Given the description of an element on the screen output the (x, y) to click on. 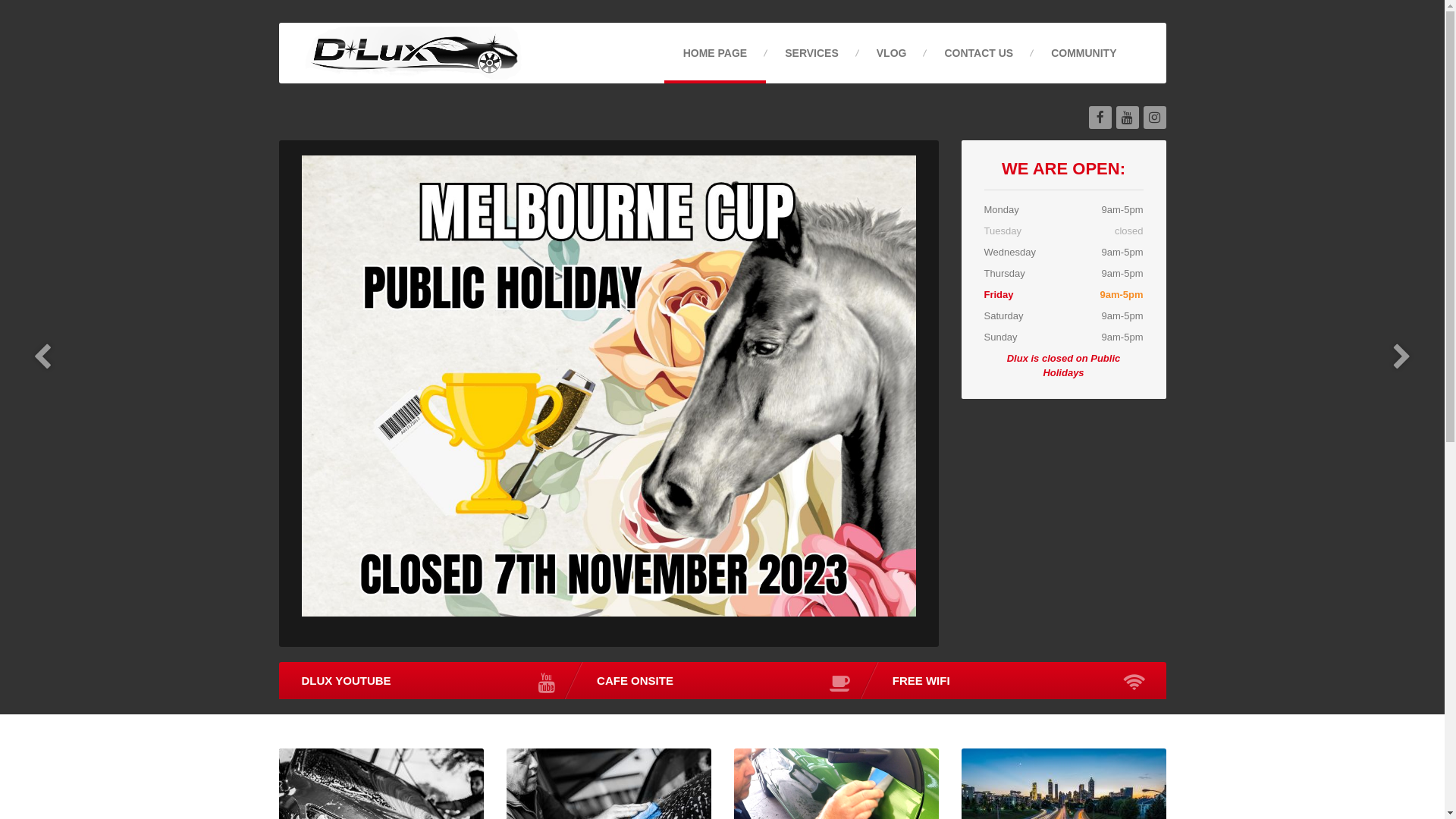
SERVICES Element type: text (811, 52)
COMMUNITY Element type: text (1083, 52)
HOME PAGE Element type: text (715, 52)
CAFE ONSITE Element type: text (721, 680)
DLUX YOUTUBE Element type: text (426, 680)
FREE WIFI Element type: text (1017, 680)
CONTACT US Element type: text (978, 52)
VLOG Element type: text (891, 52)
